Given the description of an element on the screen output the (x, y) to click on. 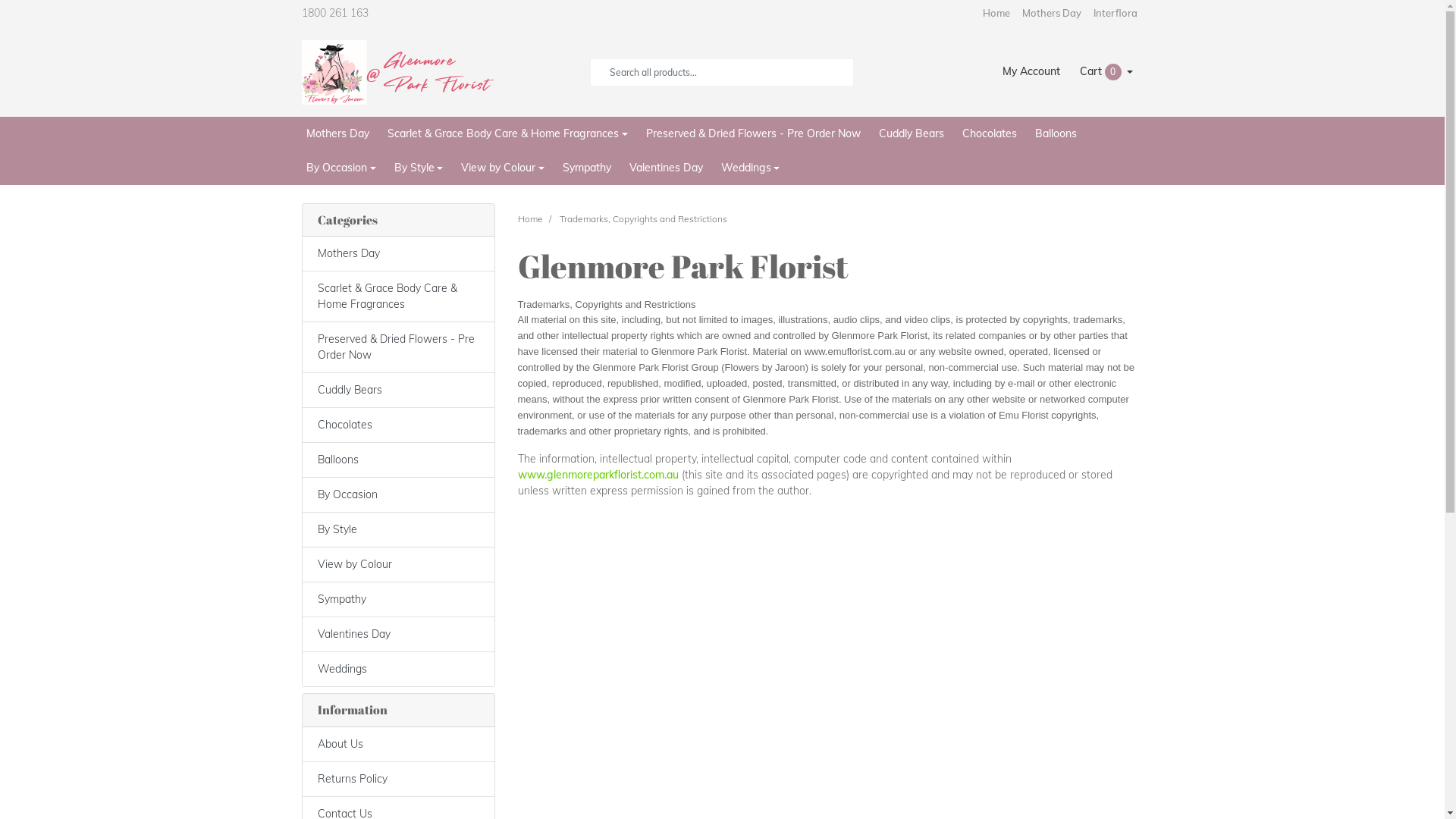
Sympathy Element type: text (586, 167)
Preserved & Dried Flowers - Pre Order Now Element type: text (397, 347)
Home Element type: text (529, 217)
Balloons Element type: text (1055, 133)
Mothers Day Element type: text (337, 133)
By Style Element type: text (397, 529)
Returns Policy Element type: text (397, 779)
Scarlet & Grace Body Care & Home Fragrances Element type: text (397, 296)
Weddings Element type: text (750, 167)
By Occasion Element type: text (341, 167)
Cuddly Bears Element type: text (397, 390)
Preserved & Dried Flowers - Pre Order Now Element type: text (753, 133)
Valentines Day Element type: text (666, 167)
Chocolates Element type: text (397, 424)
By Occasion Element type: text (397, 494)
Interflora Element type: text (1115, 13)
Cart 0 Element type: text (1106, 71)
Cuddly Bears Element type: text (911, 133)
Sympathy Element type: text (397, 599)
View by Colour Element type: text (397, 564)
Scarlet & Grace Body Care & Home Fragrances Element type: text (507, 133)
1800 261 163 Element type: text (352, 13)
Trademarks, Copyrights and Restrictions Element type: text (643, 217)
Glenmore Park Florist Element type: hover (398, 71)
Mothers Day Element type: text (1051, 13)
Balloons Element type: text (397, 459)
About Us Element type: text (397, 744)
View by Colour Element type: text (502, 167)
www.glenmoreparkflorist.com.au Element type: text (597, 474)
By Style Element type: text (418, 167)
Home Element type: text (996, 13)
Weddings Element type: text (397, 669)
Mothers Day Element type: text (397, 253)
Search Element type: text (599, 72)
My Account Element type: text (1031, 71)
Chocolates Element type: text (989, 133)
Skip to main content Element type: text (0, 0)
Valentines Day Element type: text (397, 634)
